Given the description of an element on the screen output the (x, y) to click on. 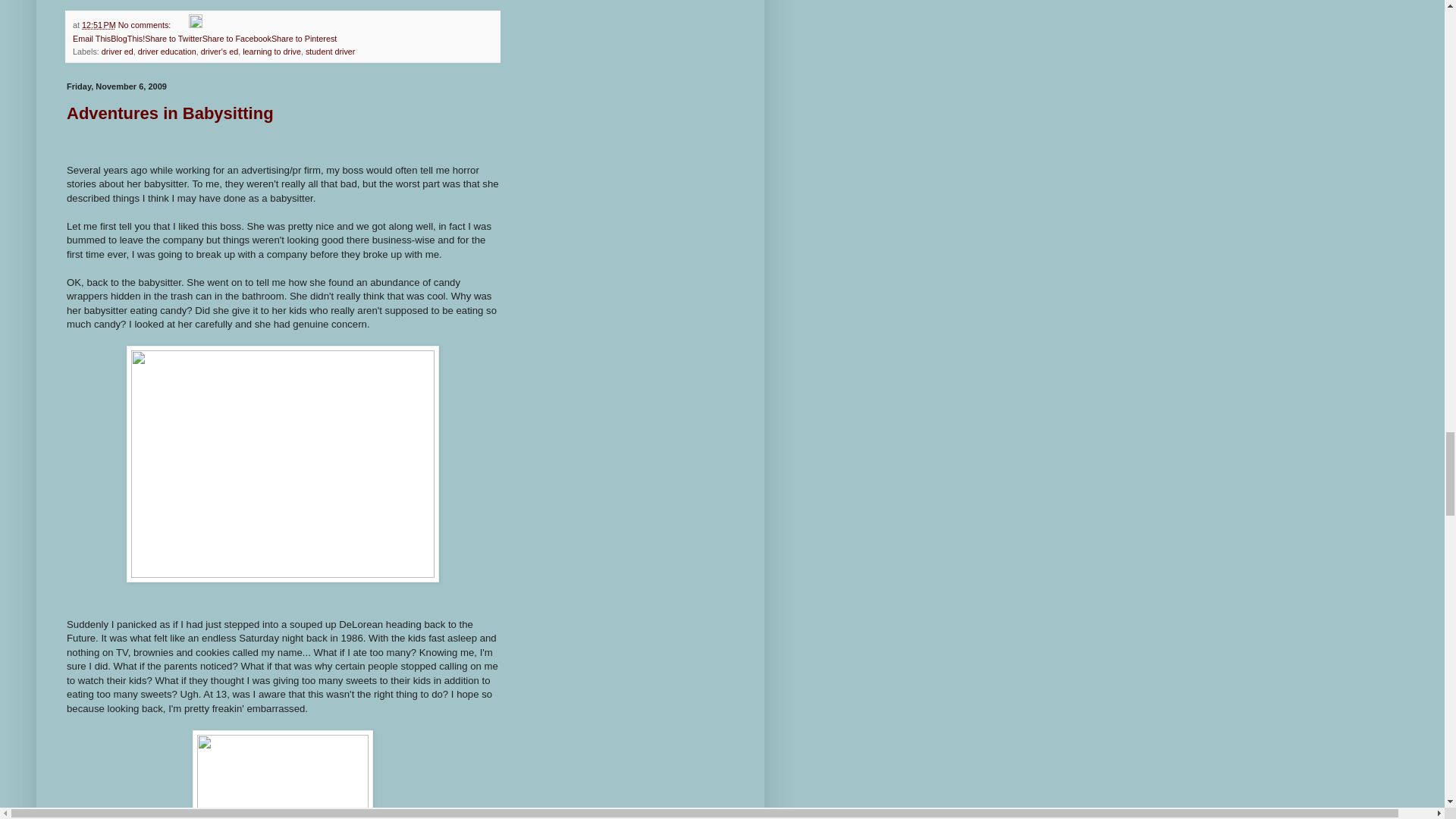
Share to Pinterest (303, 37)
Edit Post (195, 24)
Share to Facebook (236, 37)
driver ed (117, 51)
driver education (167, 51)
permanent link (98, 24)
Share to Facebook (236, 37)
student driver (330, 51)
No comments: (145, 24)
Email This (91, 37)
Email Post (181, 24)
learning to drive (272, 51)
driver's ed (219, 51)
BlogThis! (127, 37)
Adventures in Babysitting (169, 113)
